Given the description of an element on the screen output the (x, y) to click on. 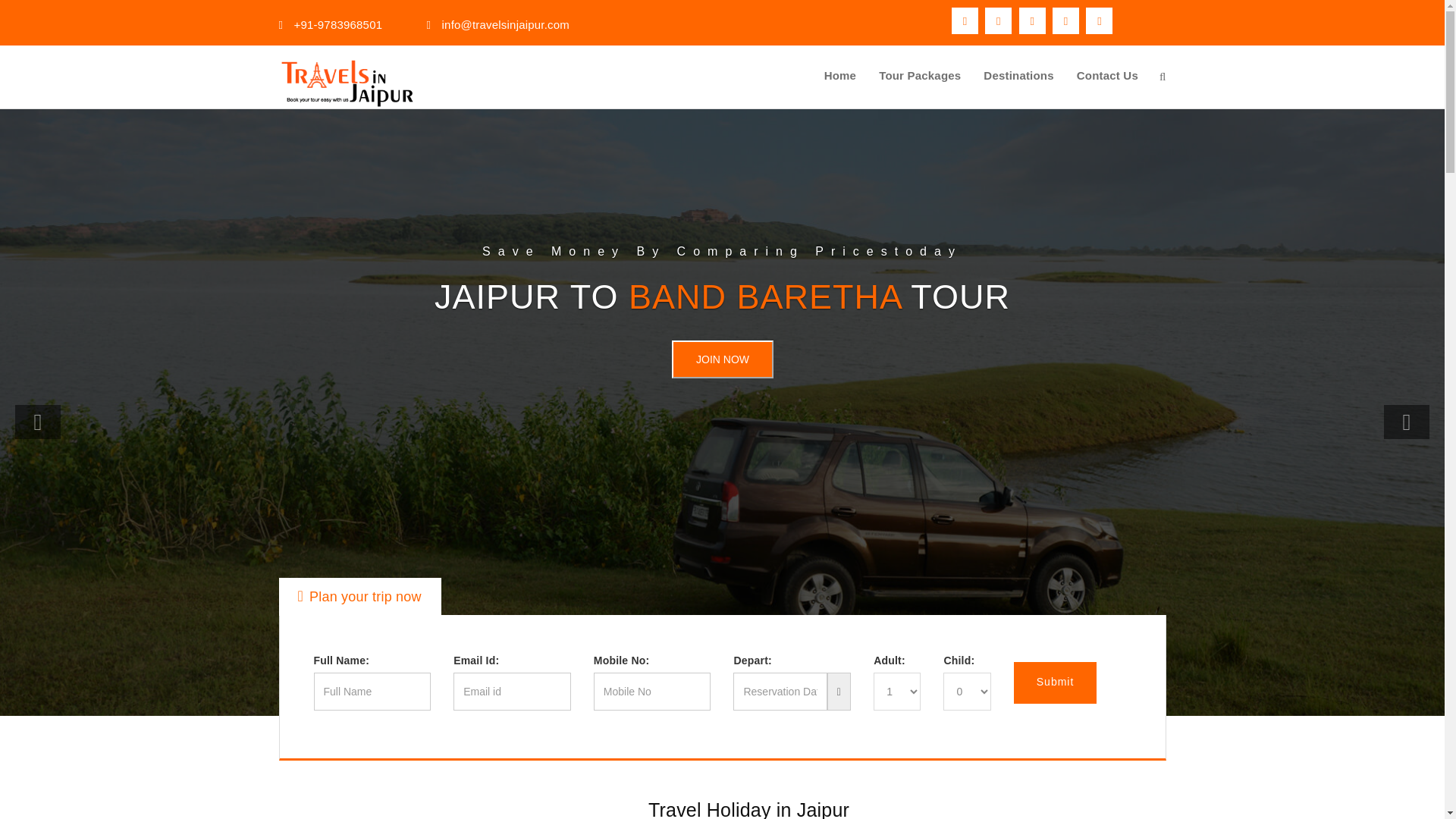
Plan your trip now (360, 596)
Contact Us (1107, 75)
Submit (1055, 682)
Destinations (1018, 75)
Tour Packages (919, 75)
Home (839, 75)
Submit (1055, 682)
